Given the description of an element on the screen output the (x, y) to click on. 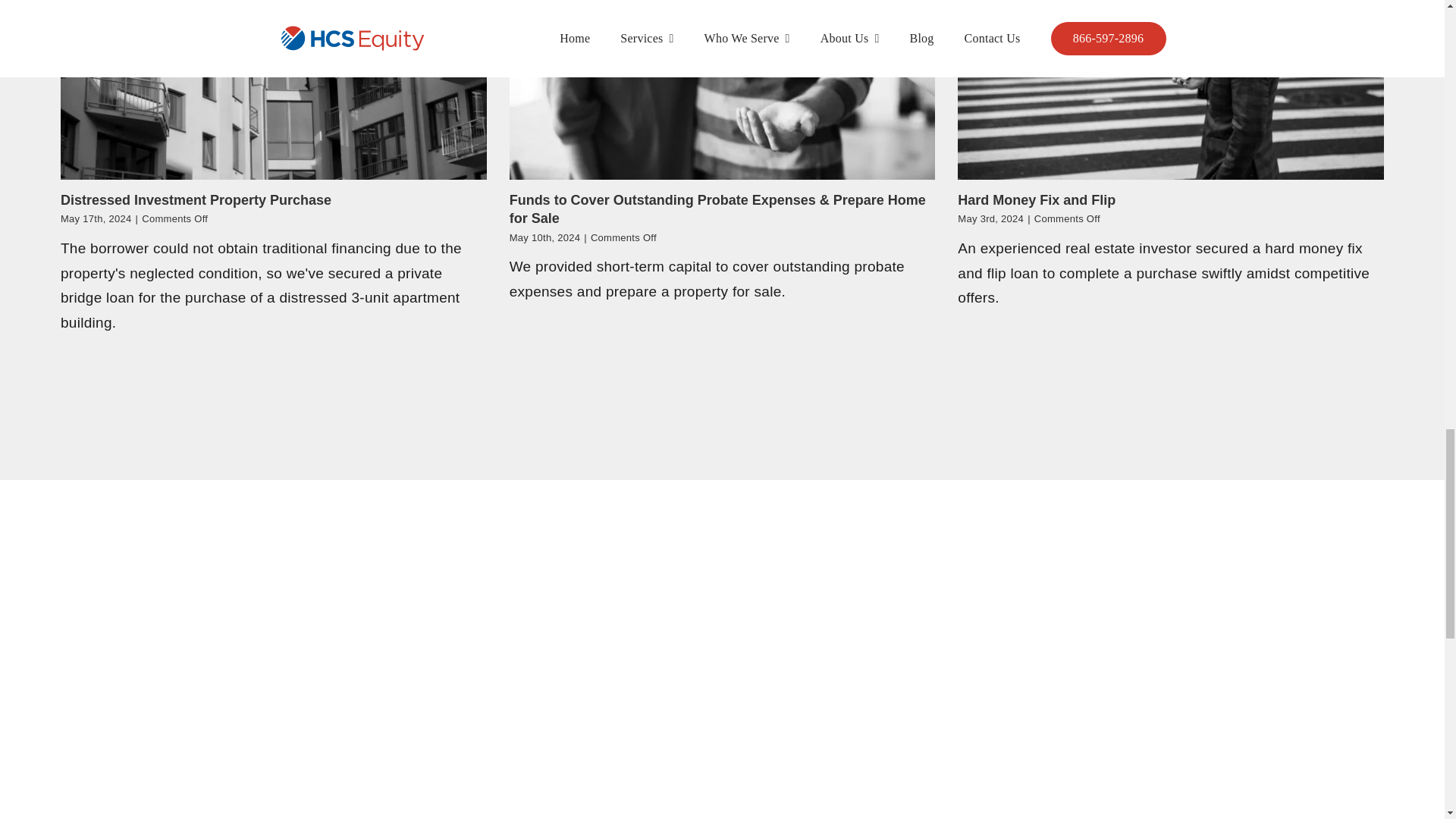
Hard Money Fix and Flip (1036, 200)
Distressed Investment Property Purchase (196, 200)
